Given the description of an element on the screen output the (x, y) to click on. 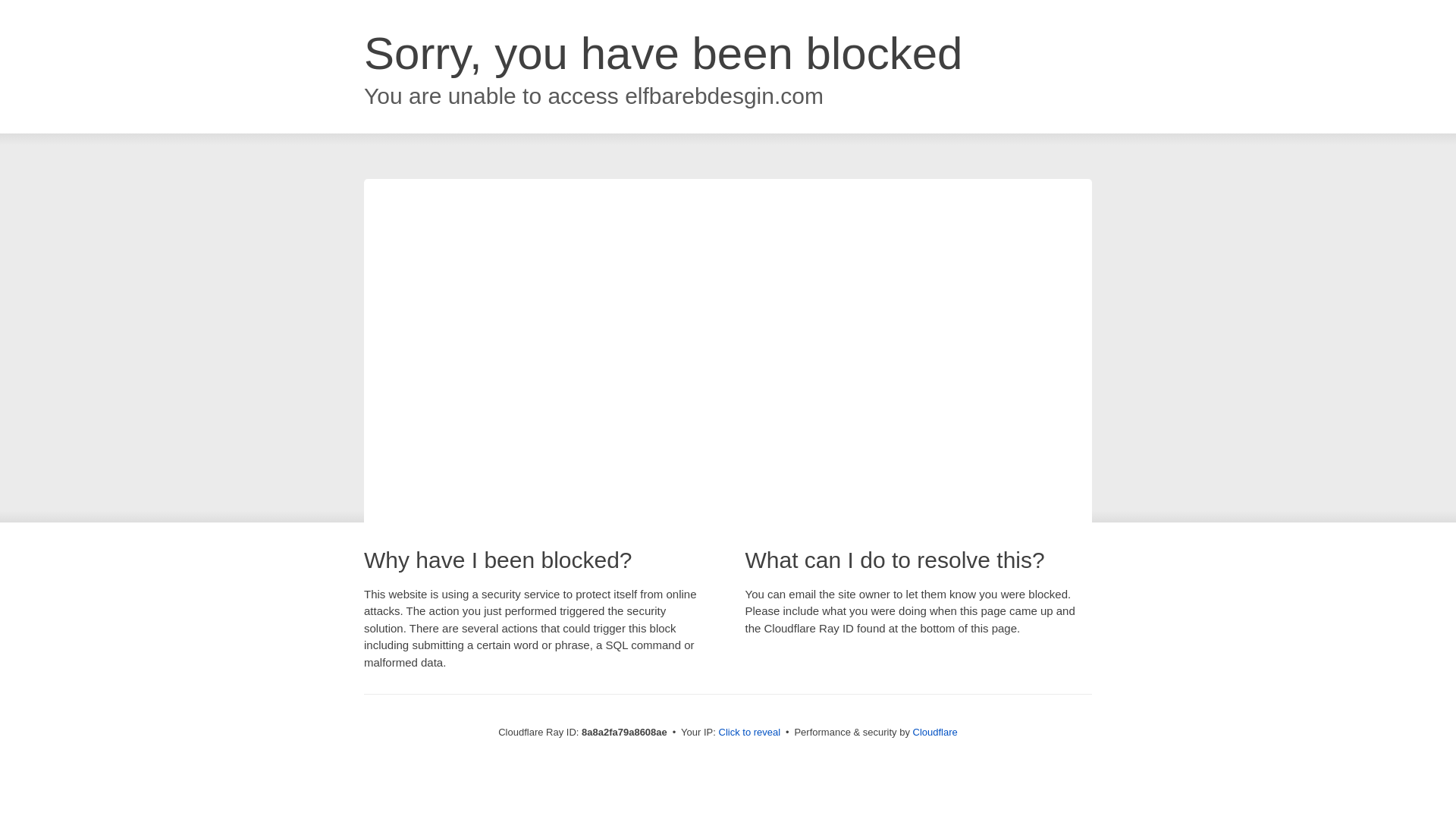
Click to reveal (749, 732)
Cloudflare (935, 731)
